Given the description of an element on the screen output the (x, y) to click on. 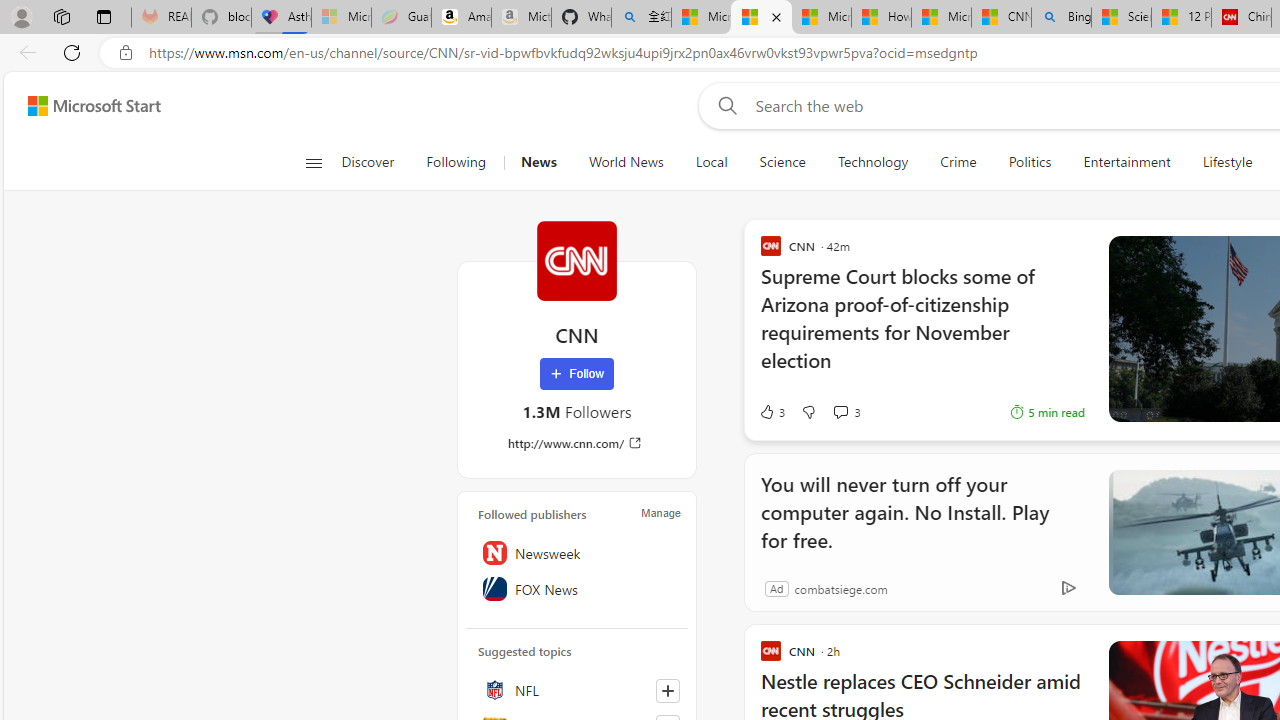
Ad Choice (1068, 588)
Lifestyle (1227, 162)
http://www.cnn.com/ (576, 443)
Crime (957, 162)
News (537, 162)
News (538, 162)
Follow this topic (667, 690)
NFL (577, 690)
Science - MSN (1120, 17)
